Given the description of an element on the screen output the (x, y) to click on. 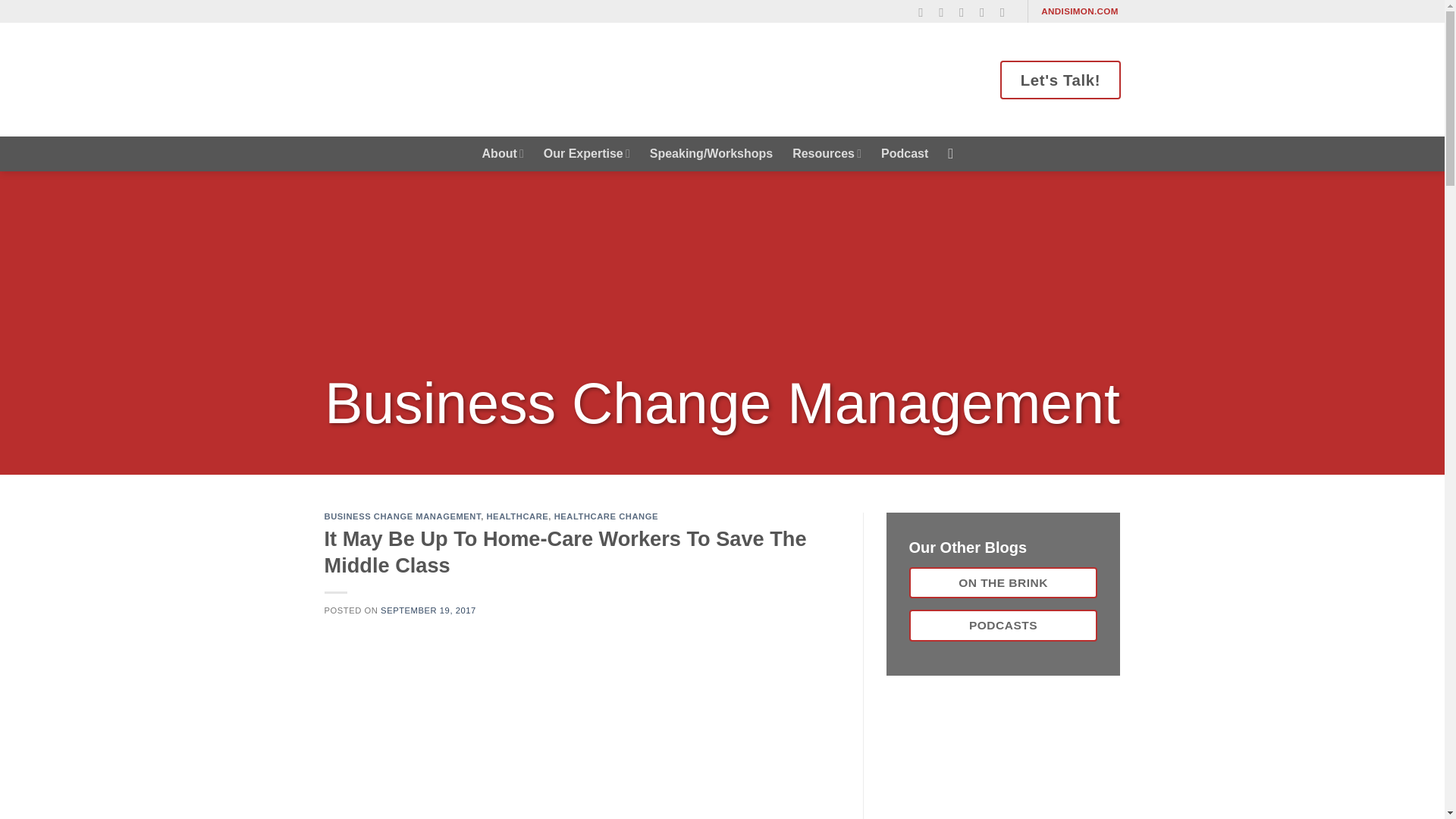
Our Expertise (586, 153)
About (502, 153)
Follow on Instagram (945, 11)
Podcast (904, 153)
Simon Associates - Management Consultants (456, 79)
Let's Talk! (1059, 79)
Follow on Facebook (924, 11)
Follow on LinkedIn (985, 11)
ANDISIMON.COM (1080, 11)
Follow on Twitter (965, 11)
Follow on YouTube (1006, 11)
Resources (826, 153)
